Given the description of an element on the screen output the (x, y) to click on. 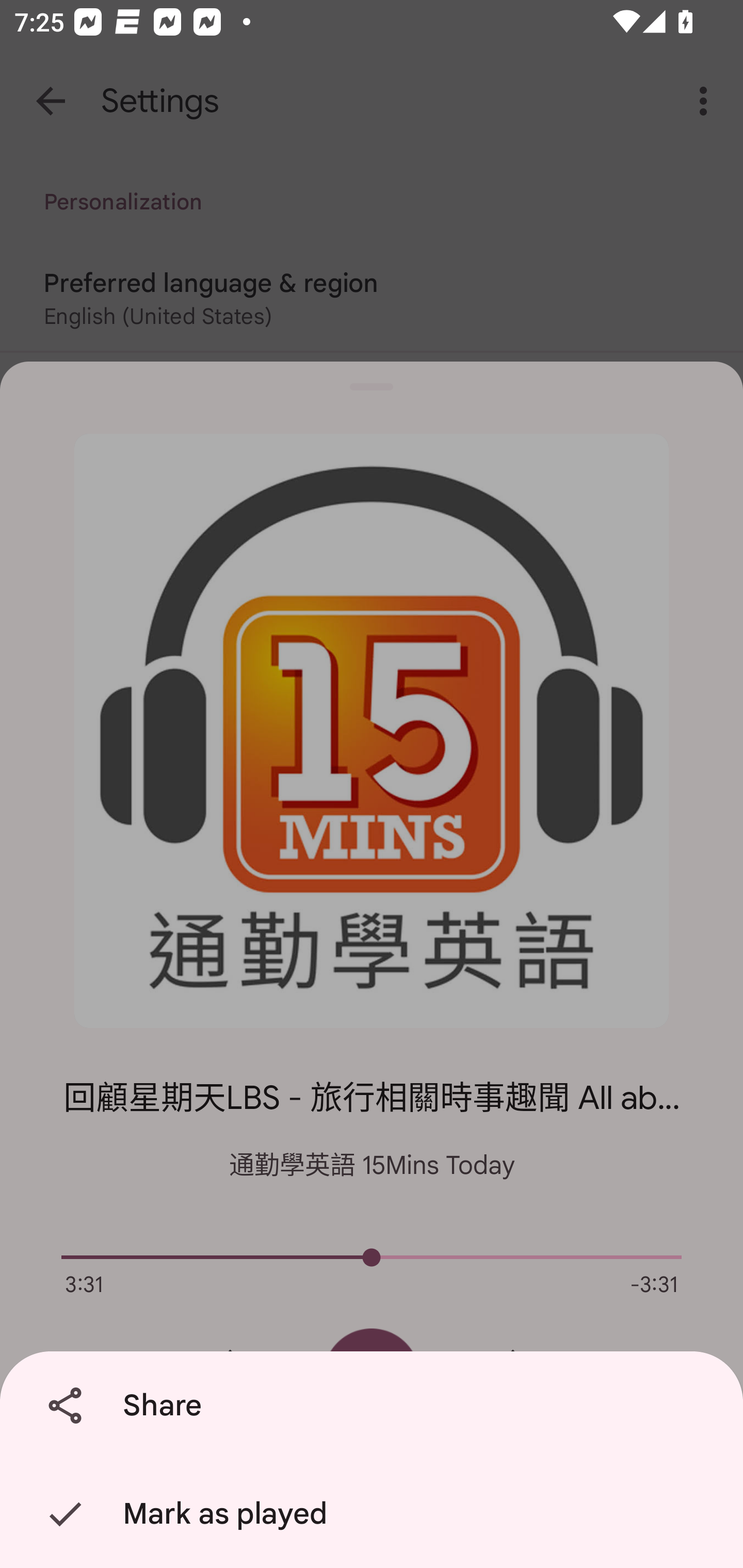
Share (375, 1405)
Mark as played (375, 1513)
